Given the description of an element on the screen output the (x, y) to click on. 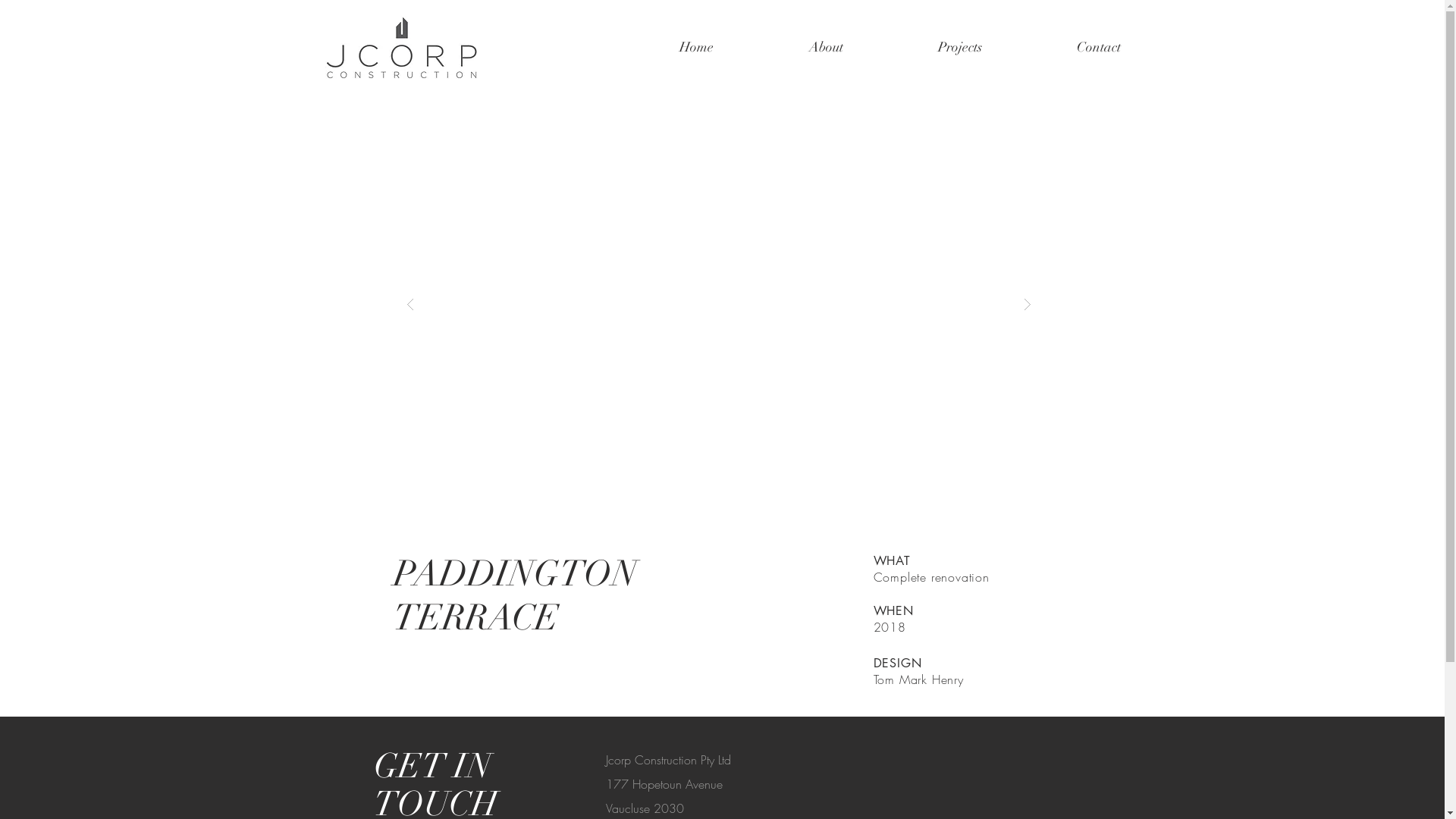
Contact Element type: text (1098, 46)
Projects Element type: text (959, 46)
About Element type: text (826, 46)
Home Element type: text (695, 46)
